Given the description of an element on the screen output the (x, y) to click on. 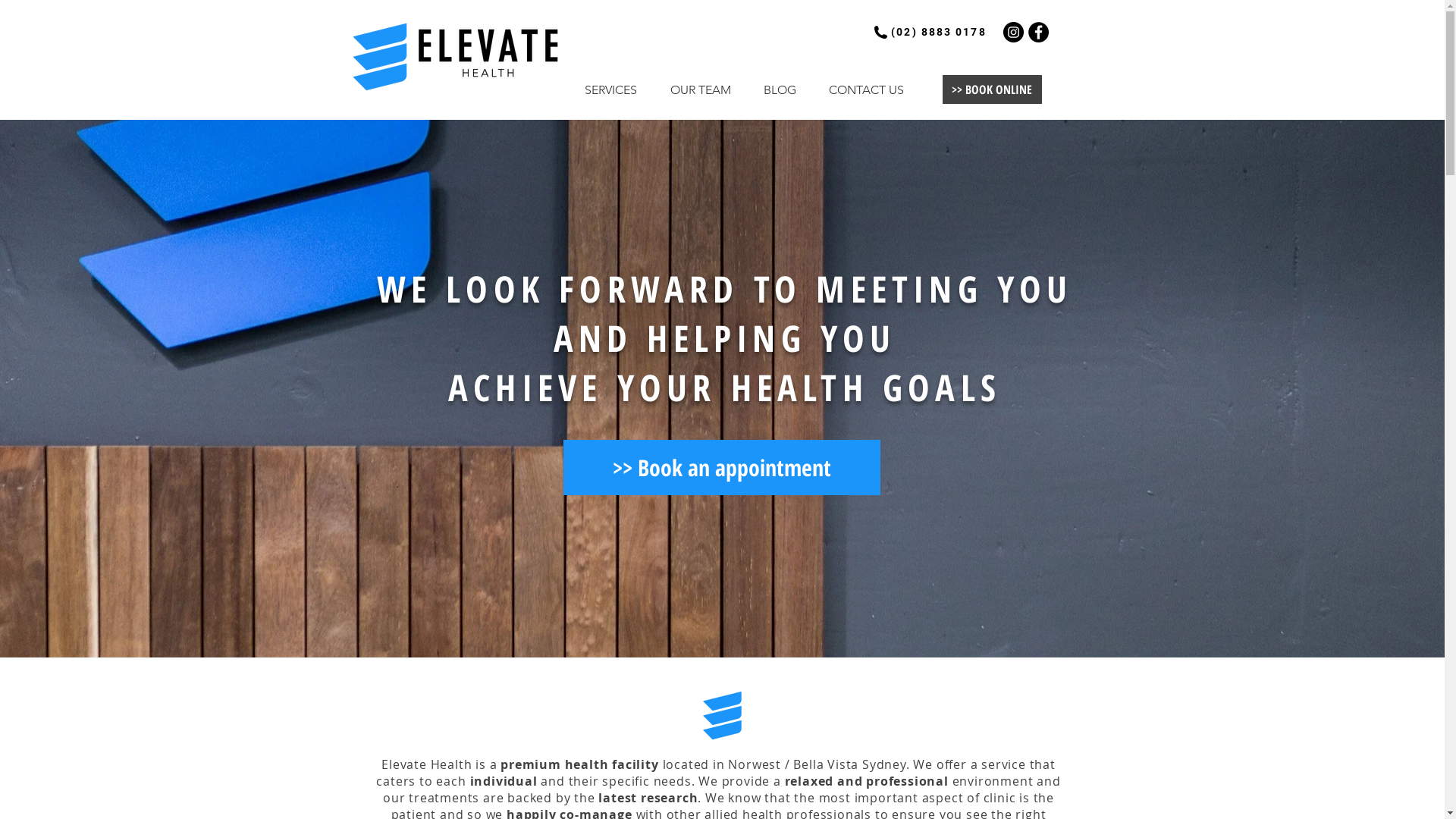
OUR TEAM Element type: text (694, 89)
>> BOOK ONLINE Element type: text (991, 89)
BLOG Element type: text (773, 89)
SERVICES Element type: text (604, 89)
(02) 8883 0178 Element type: text (938, 31)
>> Book an appointment Element type: text (720, 467)
CONTACT US Element type: text (860, 89)
